Given the description of an element on the screen output the (x, y) to click on. 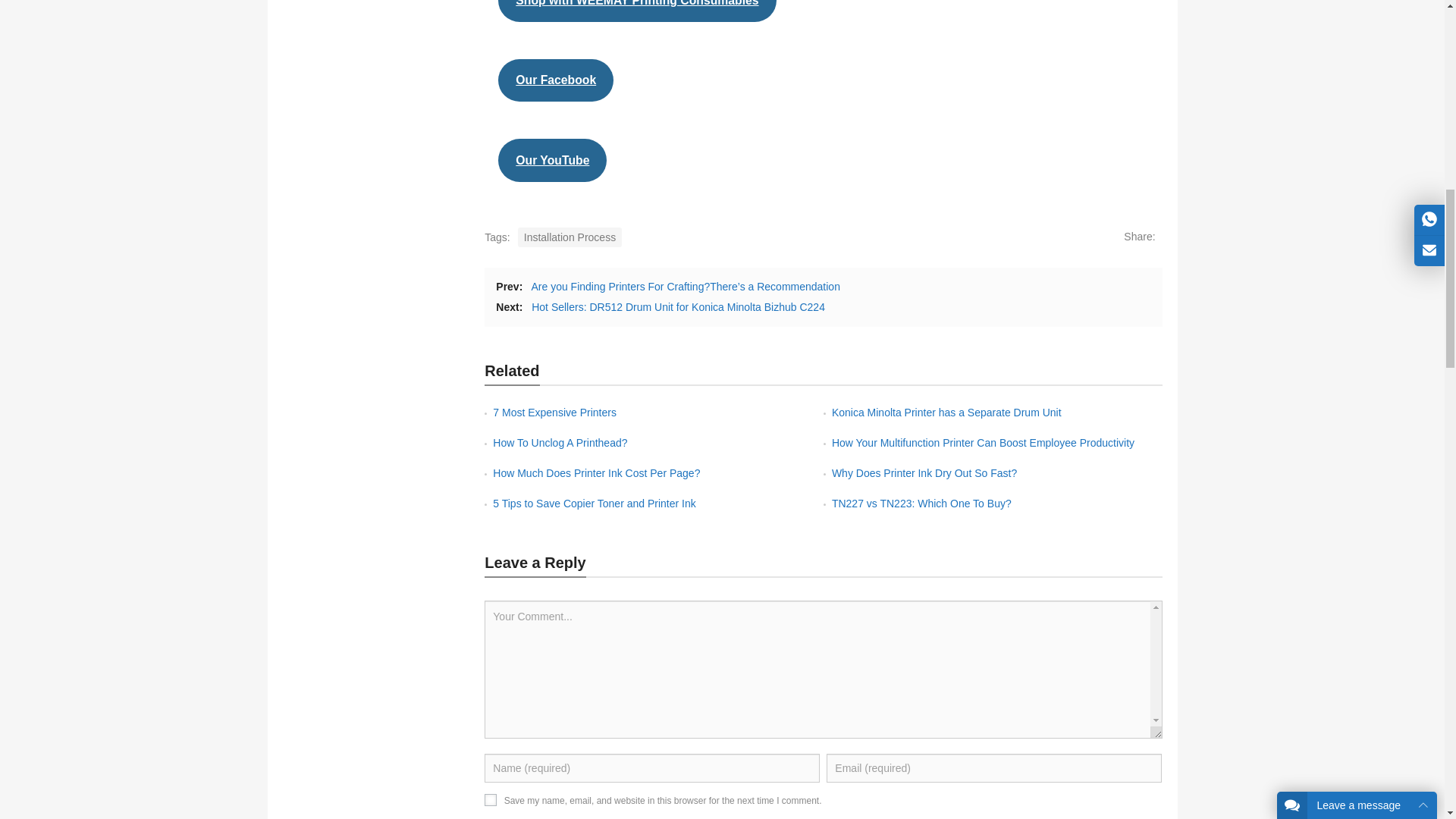
How Much Does Printer Ink Cost Per Page? (596, 472)
TN227 vs TN223: Which One To Buy? (921, 503)
How To Unclog A Printhead? (560, 442)
Why Does Printer Ink Dry Out So Fast? (923, 472)
7 Most Expensive Printers (554, 412)
7 Most Expensive Printers (554, 412)
How Much Does Printer Ink Cost Per Page? (596, 472)
yes (490, 799)
Konica Minolta Printer has a Separate Drum Unit (946, 412)
